Given the description of an element on the screen output the (x, y) to click on. 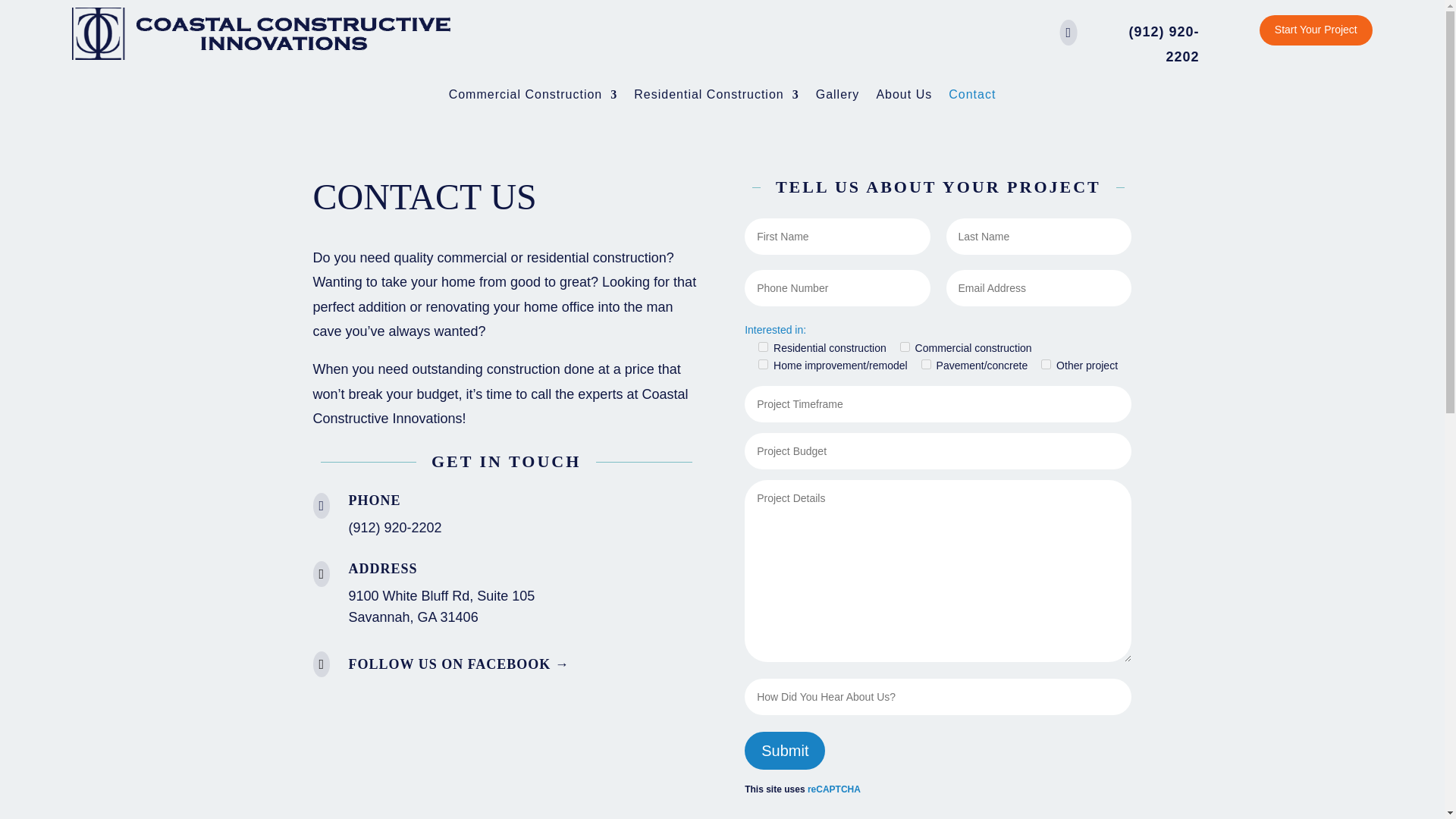
reCAPTCHA (834, 788)
Commercial Construction (532, 97)
Coastal Constructive Innovations (261, 33)
About Us (903, 97)
Residential Construction (715, 97)
Other project (1046, 364)
Start Your Project (1316, 30)
Submit (784, 750)
Commercial construction (904, 347)
Gallery (837, 97)
